Given the description of an element on the screen output the (x, y) to click on. 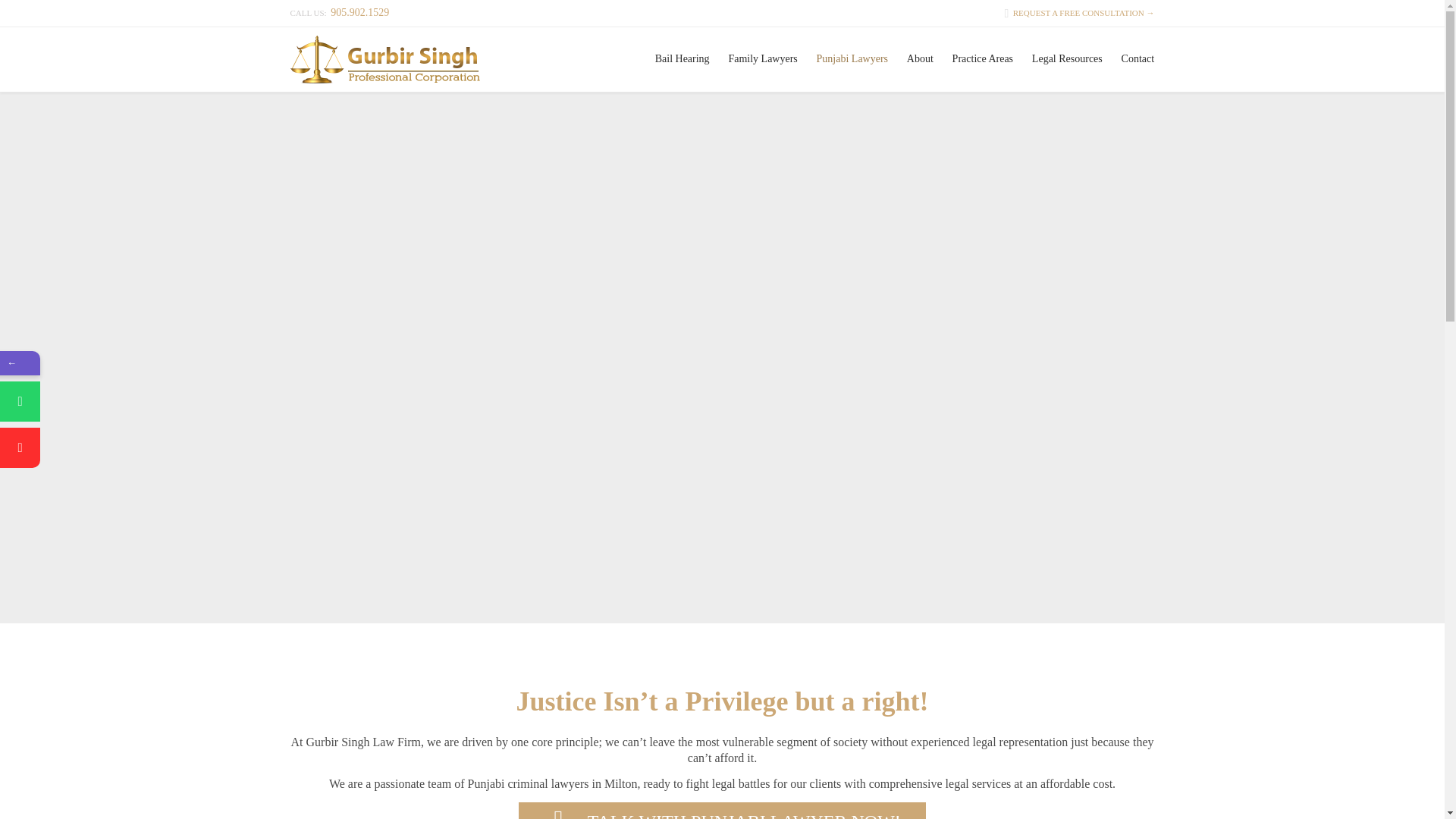
Bail Hearing (681, 58)
Practice Areas (981, 58)
Book Now (45, 601)
Punjabi Lawyers (851, 58)
About (919, 58)
905.902.1529 (359, 12)
Gurbir Singh Criminal Lawyer (384, 59)
Legal Resources (1066, 58)
